Given the description of an element on the screen output the (x, y) to click on. 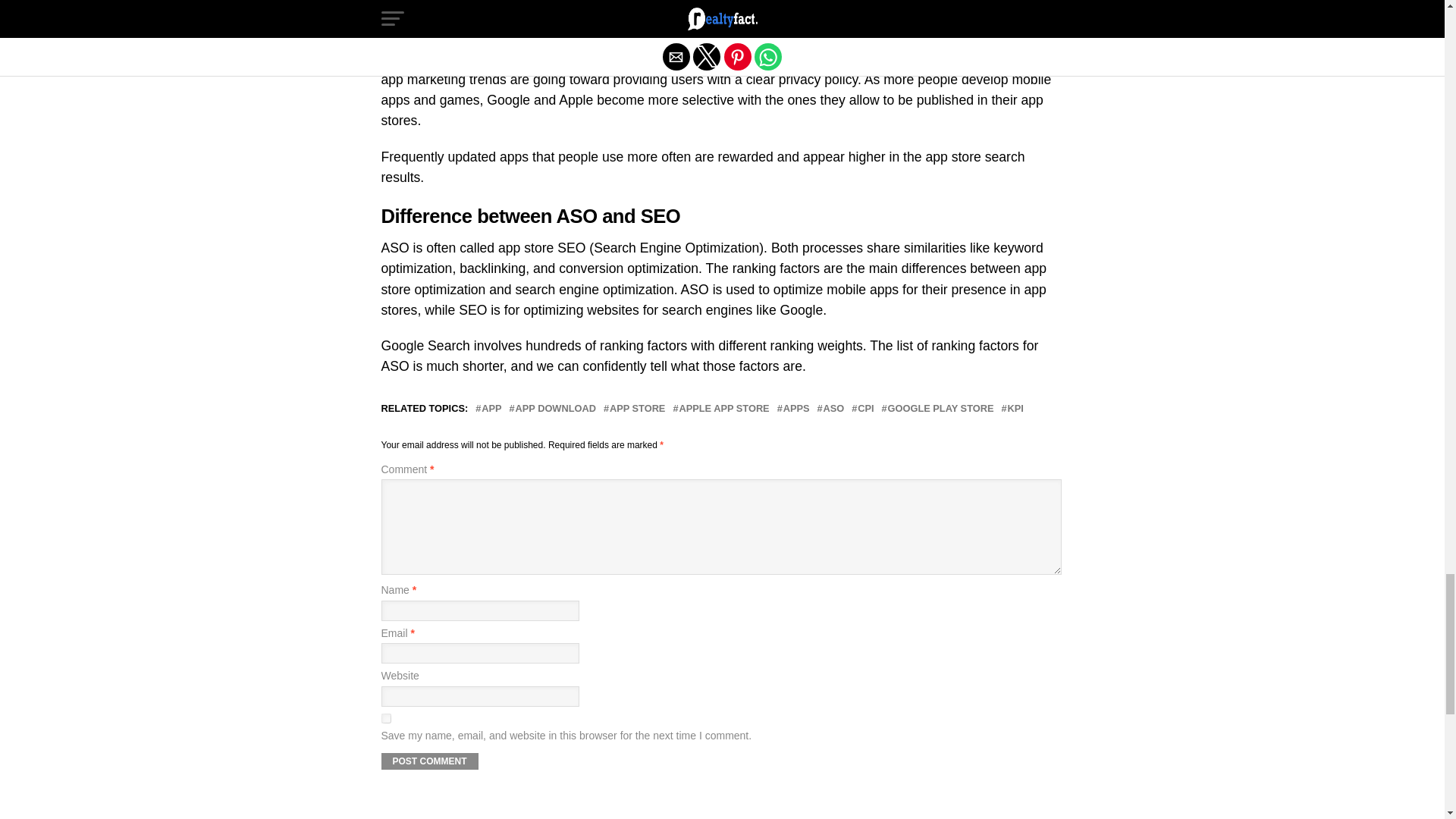
APPS (796, 409)
yes (385, 718)
ASO (834, 409)
Post Comment (428, 760)
APP (490, 409)
Post Comment (428, 760)
CPI (865, 409)
APP DOWNLOAD (555, 409)
KPI (1015, 409)
APP STORE (637, 409)
APPLE APP STORE (723, 409)
GOOGLE PLAY STORE (941, 409)
